Given the description of an element on the screen output the (x, y) to click on. 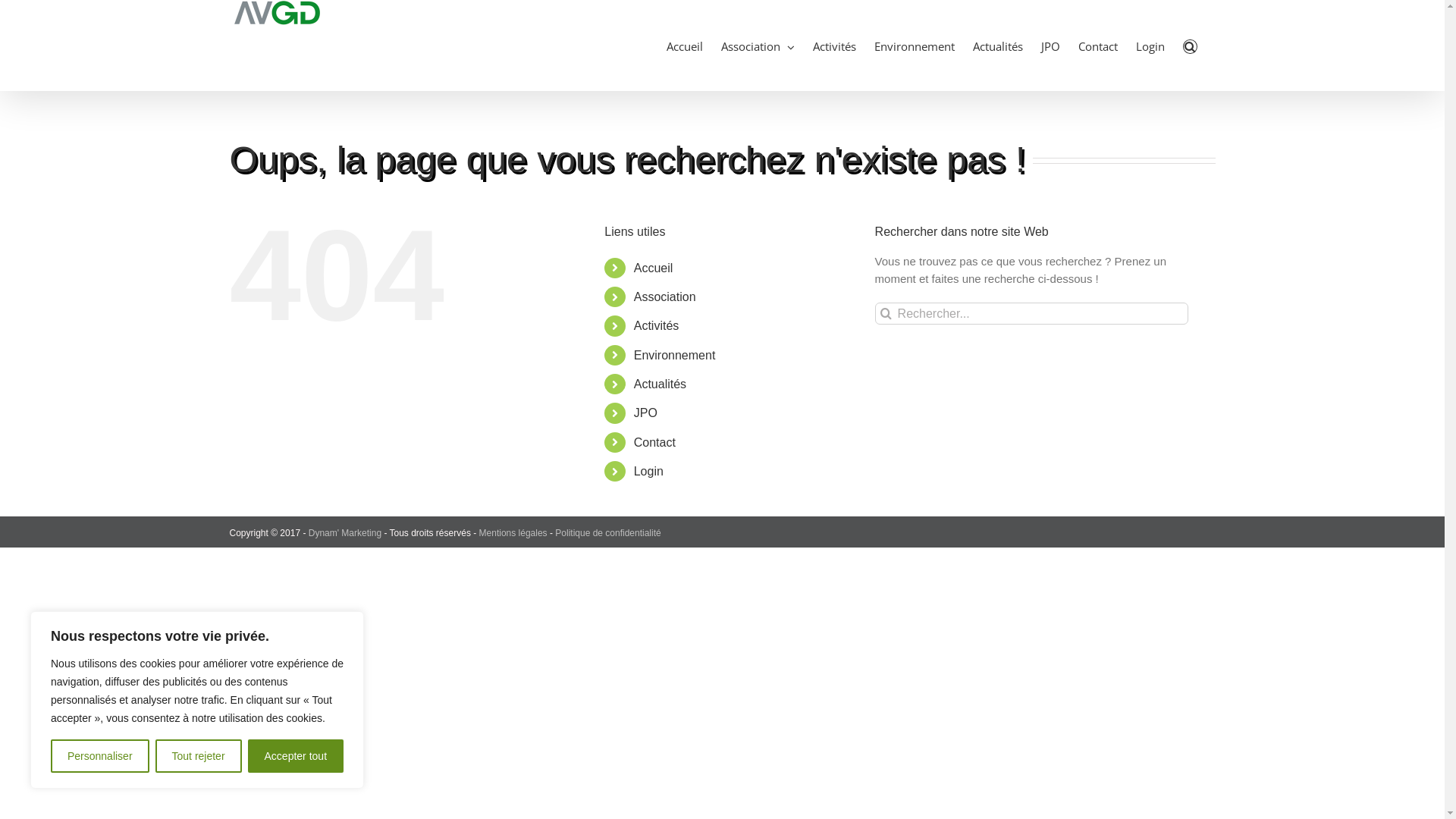
Login Element type: text (1149, 45)
Environnement Element type: text (914, 45)
Recherche Element type: hover (1190, 45)
Login Element type: text (648, 470)
Accueil Element type: text (653, 267)
Association Element type: text (664, 296)
JPO Element type: text (645, 412)
Contact Element type: text (1097, 45)
Environnement Element type: text (674, 354)
JPO Element type: text (1050, 45)
Personnaliser Element type: text (99, 755)
Tout rejeter Element type: text (198, 755)
Accueil Element type: text (684, 45)
Association Element type: text (757, 45)
Accepter tout Element type: text (295, 755)
Dynam' Marketing Element type: text (344, 532)
Contact Element type: text (654, 442)
